Given the description of an element on the screen output the (x, y) to click on. 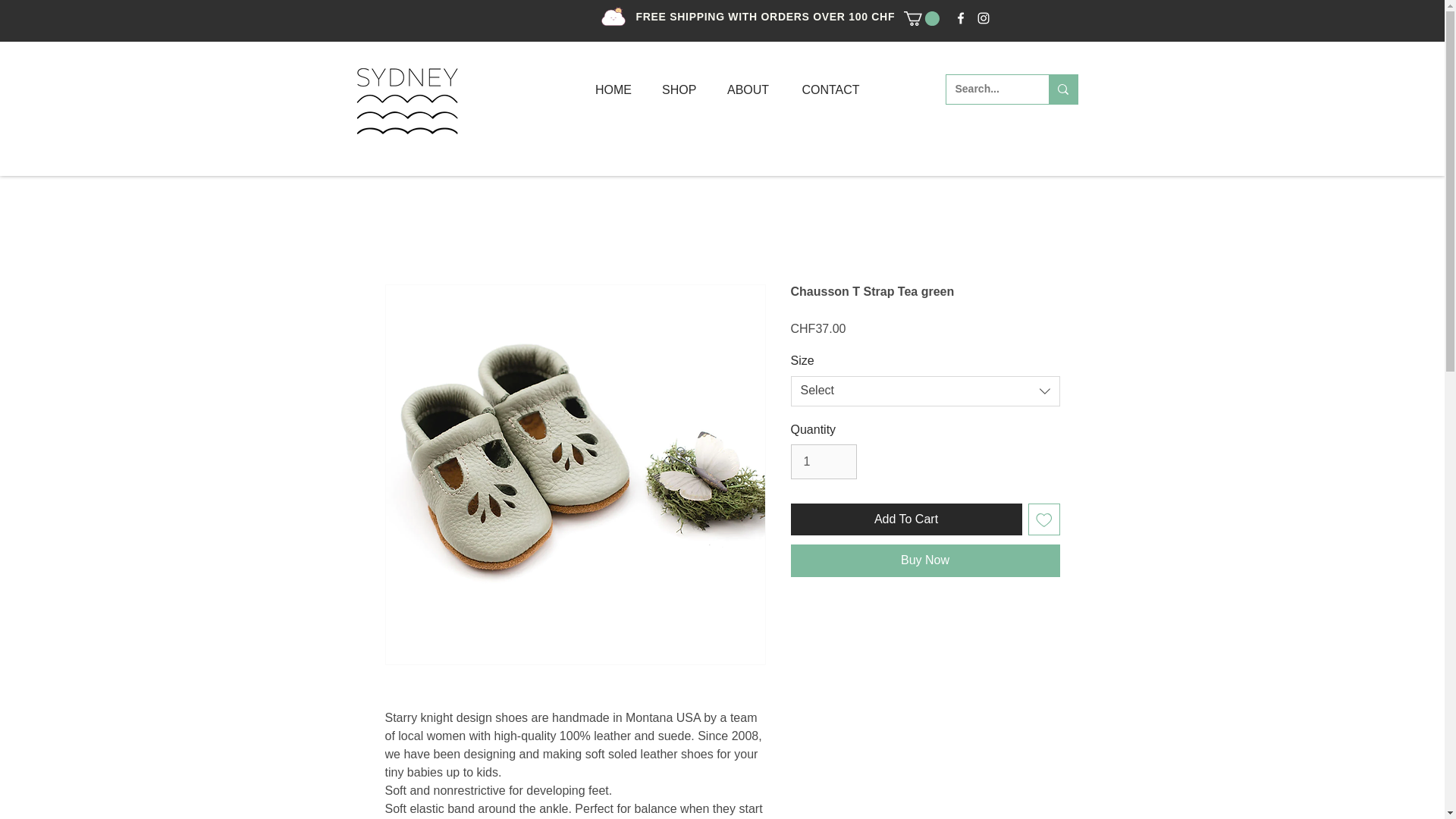
Select (924, 390)
Add To Cart (906, 519)
1 (823, 461)
HOME (612, 89)
ABOUT (747, 89)
Buy Now (924, 560)
CONTACT (830, 89)
